Given the description of an element on the screen output the (x, y) to click on. 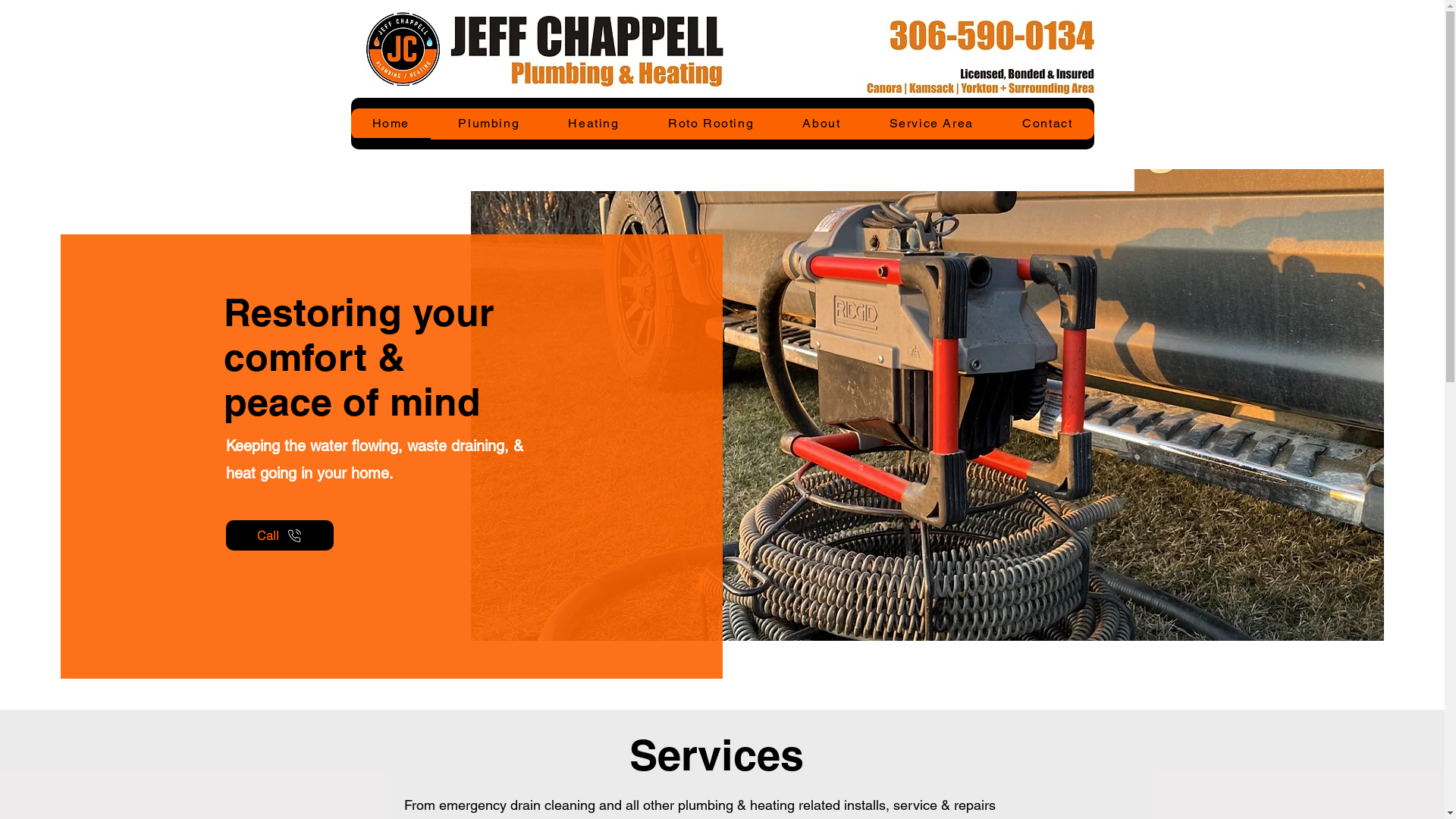
Call Element type: text (279, 535)
Heating Element type: text (593, 123)
About Element type: text (821, 123)
Plumbing Element type: text (488, 123)
Service Area Element type: text (931, 123)
Roto Rooting Element type: text (710, 123)
Contact Element type: text (1047, 123)
Home Element type: text (390, 123)
